Given the description of an element on the screen output the (x, y) to click on. 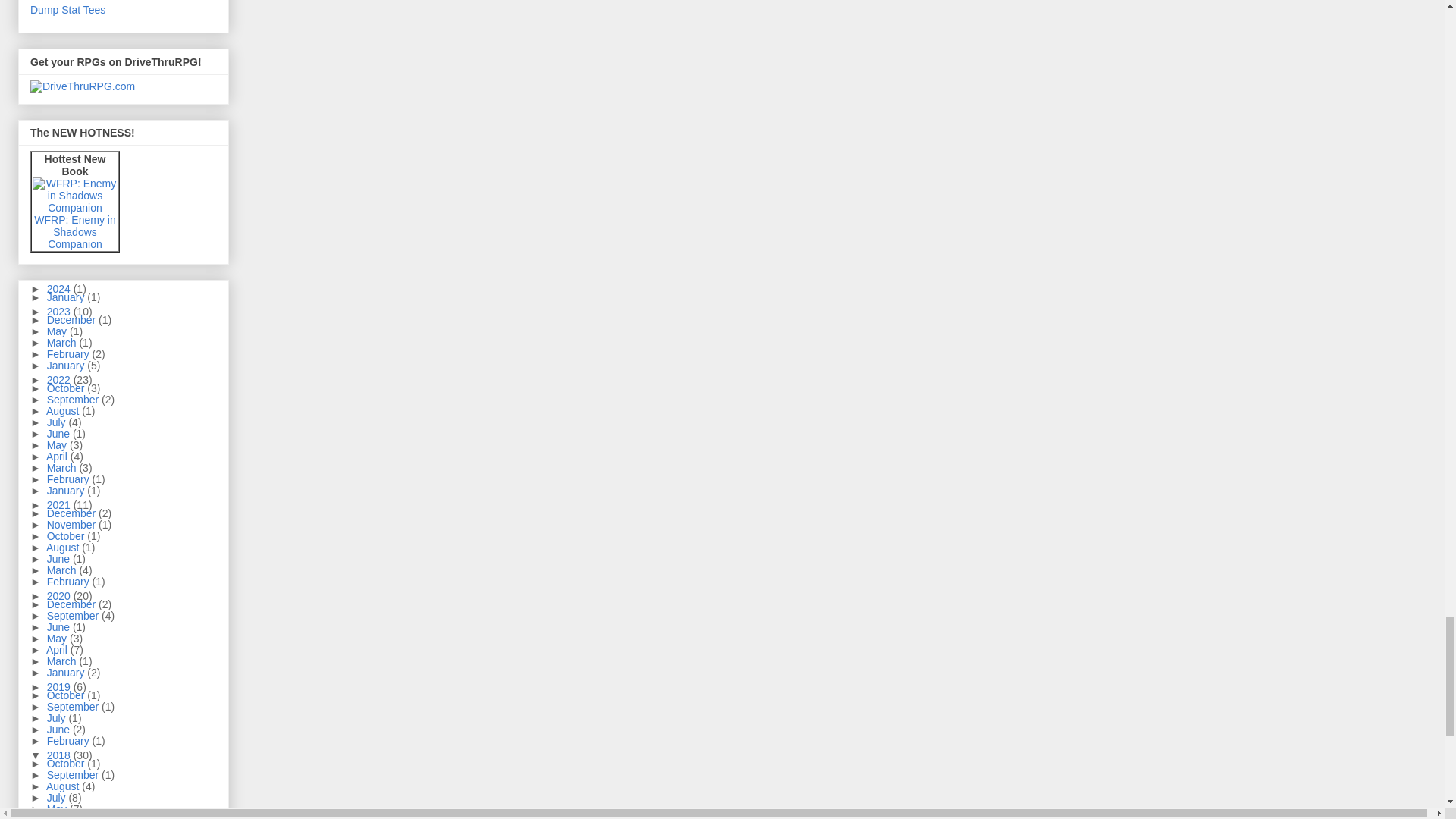
WFRP: Enemy in Shadows Companion (74, 195)
